Given the description of an element on the screen output the (x, y) to click on. 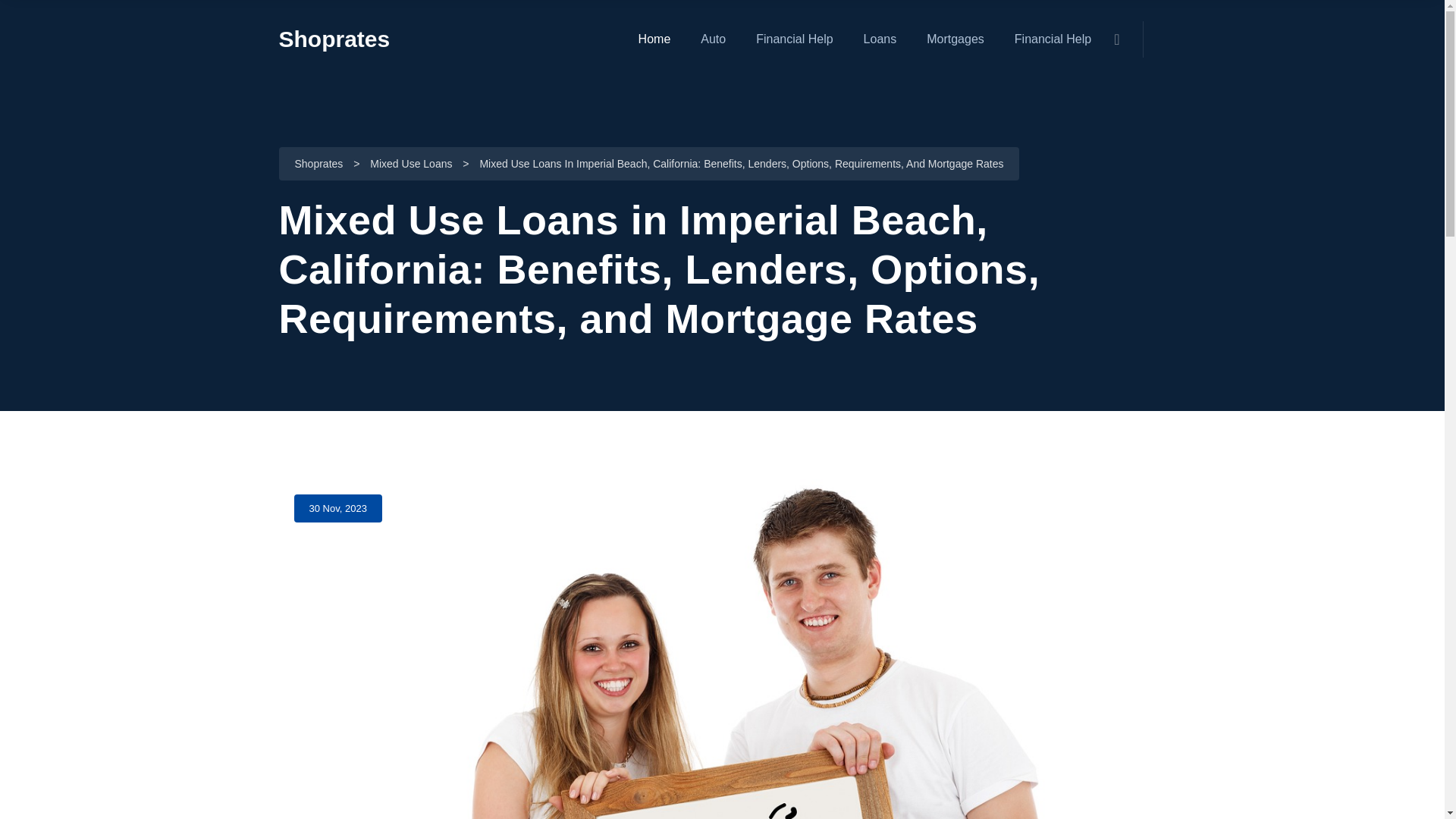
Auto (712, 39)
Loans (879, 39)
Financial Help (793, 39)
Mortgages (955, 39)
Shoprates (334, 38)
Go to the Mixed Use Loans Category archives. (410, 164)
Go to Shoprates. (318, 164)
Home (655, 39)
Financial Help (1052, 39)
